Given the description of an element on the screen output the (x, y) to click on. 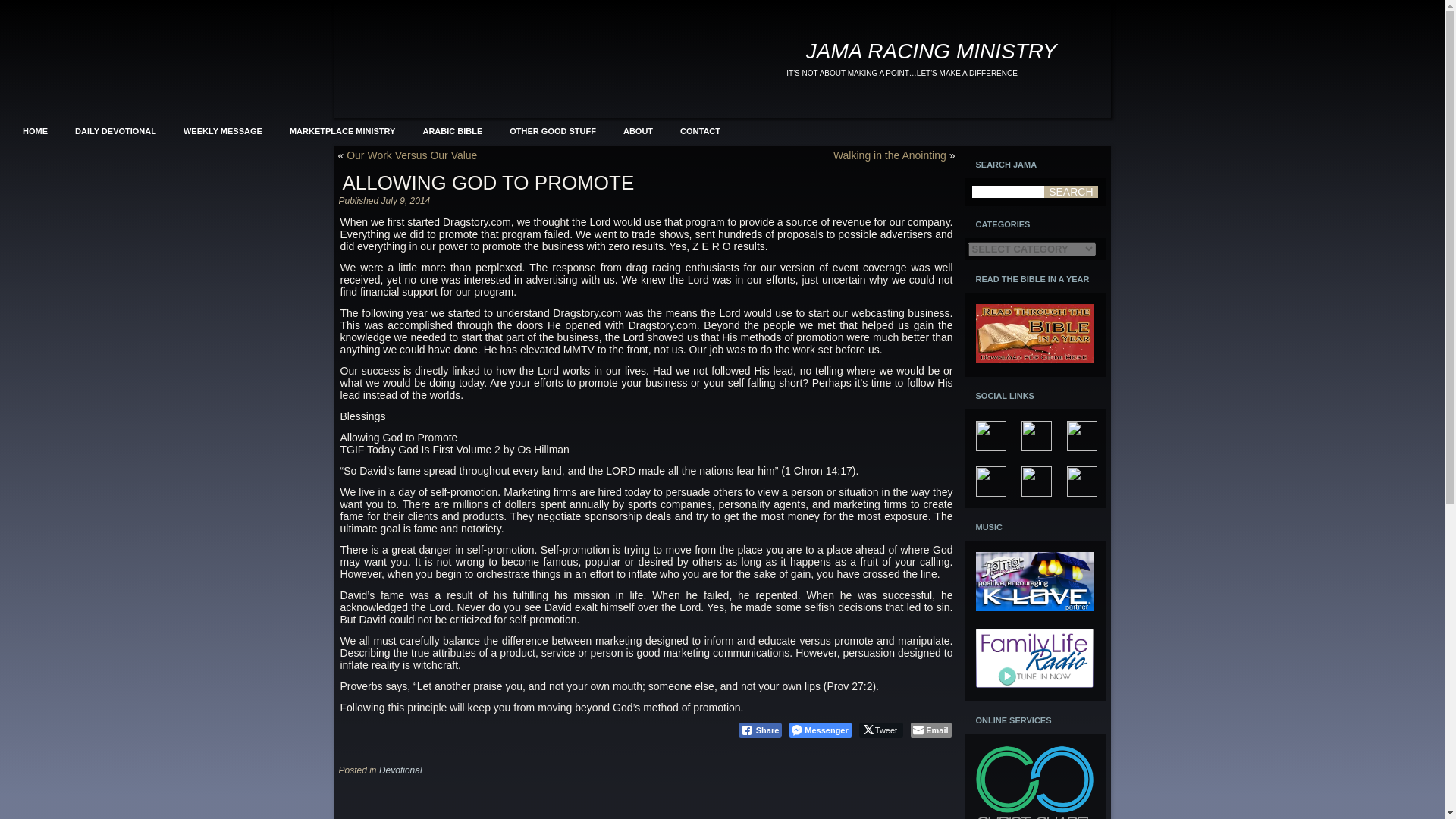
Our Work Versus Our Value (411, 155)
Daily Devotional (115, 131)
Search (1070, 191)
Search (1070, 191)
Contact (699, 131)
WEEKLY MESSAGE (222, 131)
Walking in the Anointing (889, 155)
Other Good Stuff (552, 131)
Weekly Message (222, 131)
MARKETPLACE MINISTRY (342, 131)
